Given the description of an element on the screen output the (x, y) to click on. 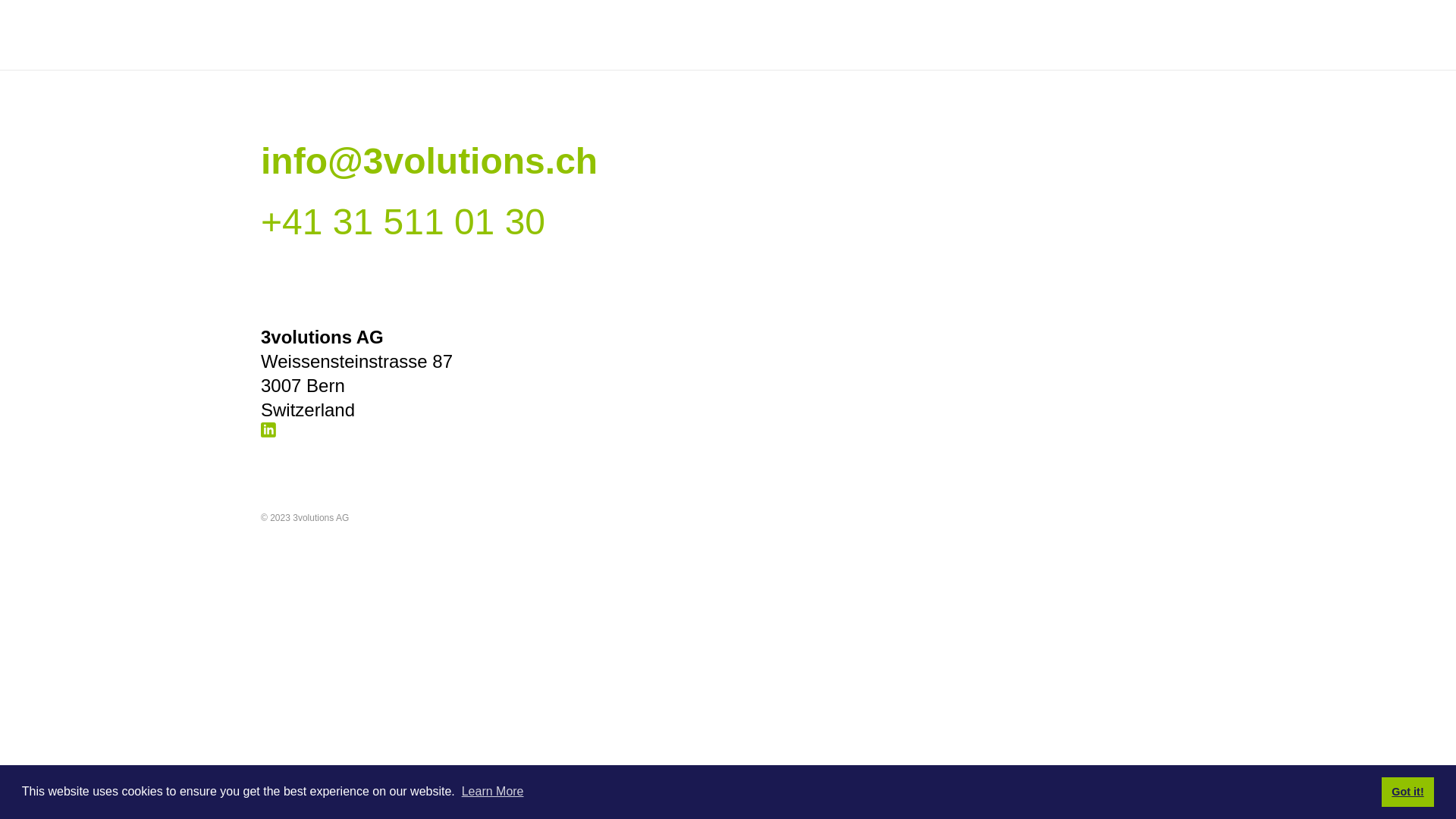
EXPERTISE Element type: text (500, 44)
Got it! Element type: text (1407, 791)
JOBS Element type: text (578, 44)
+41 31 511 01 30 Element type: text (402, 221)
3VROOMS Element type: text (1182, 44)
Learn More Element type: text (492, 790)
info@3volutions.ch Element type: text (428, 161)
